Given the description of an element on the screen output the (x, y) to click on. 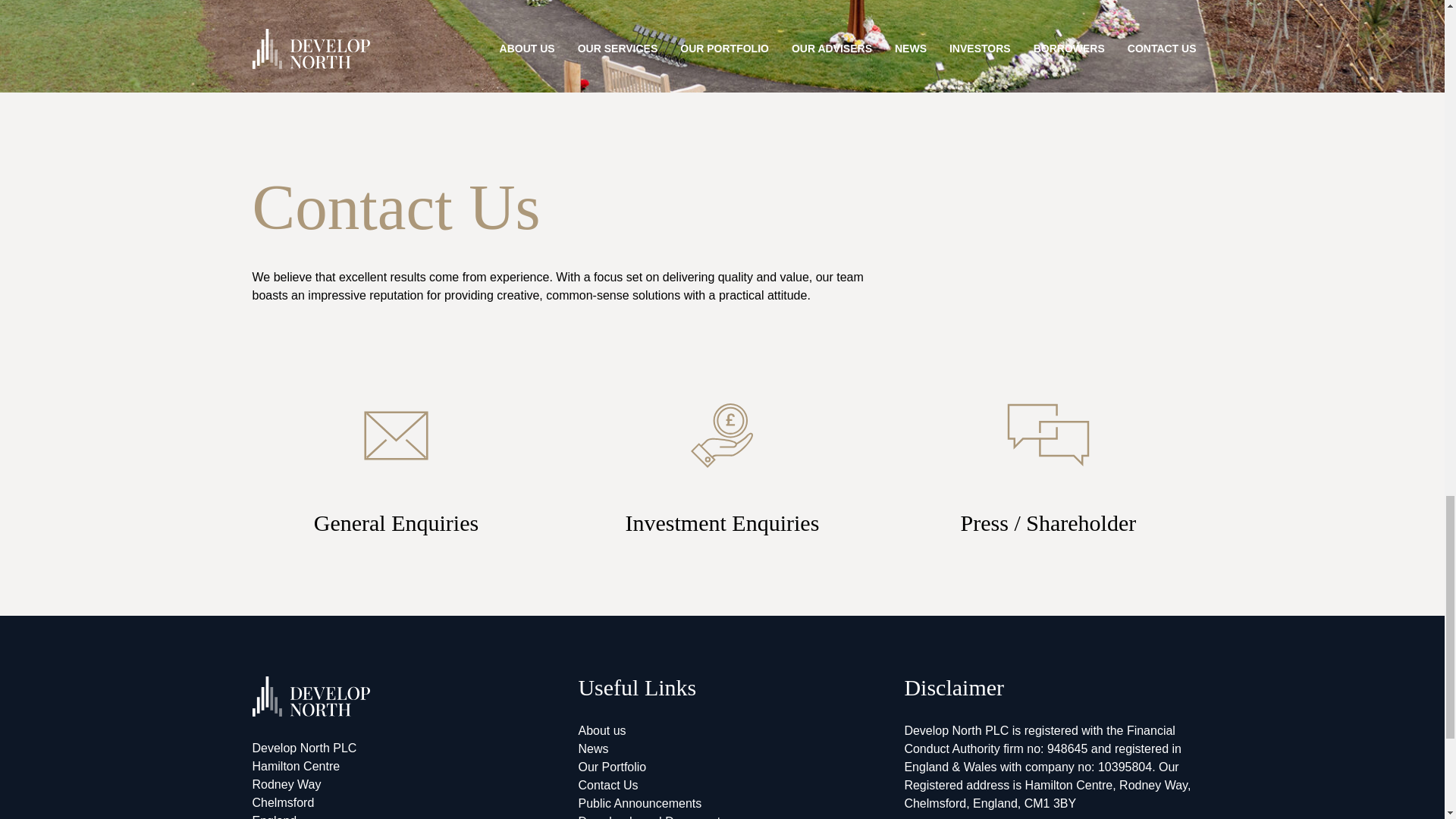
About us (602, 730)
Contact Us (607, 784)
Investment Enquiries (722, 471)
Public Announcements (639, 802)
General Enquiries (395, 471)
Our Portfolio (612, 766)
Downloads and Documents (652, 816)
News (593, 748)
